Given the description of an element on the screen output the (x, y) to click on. 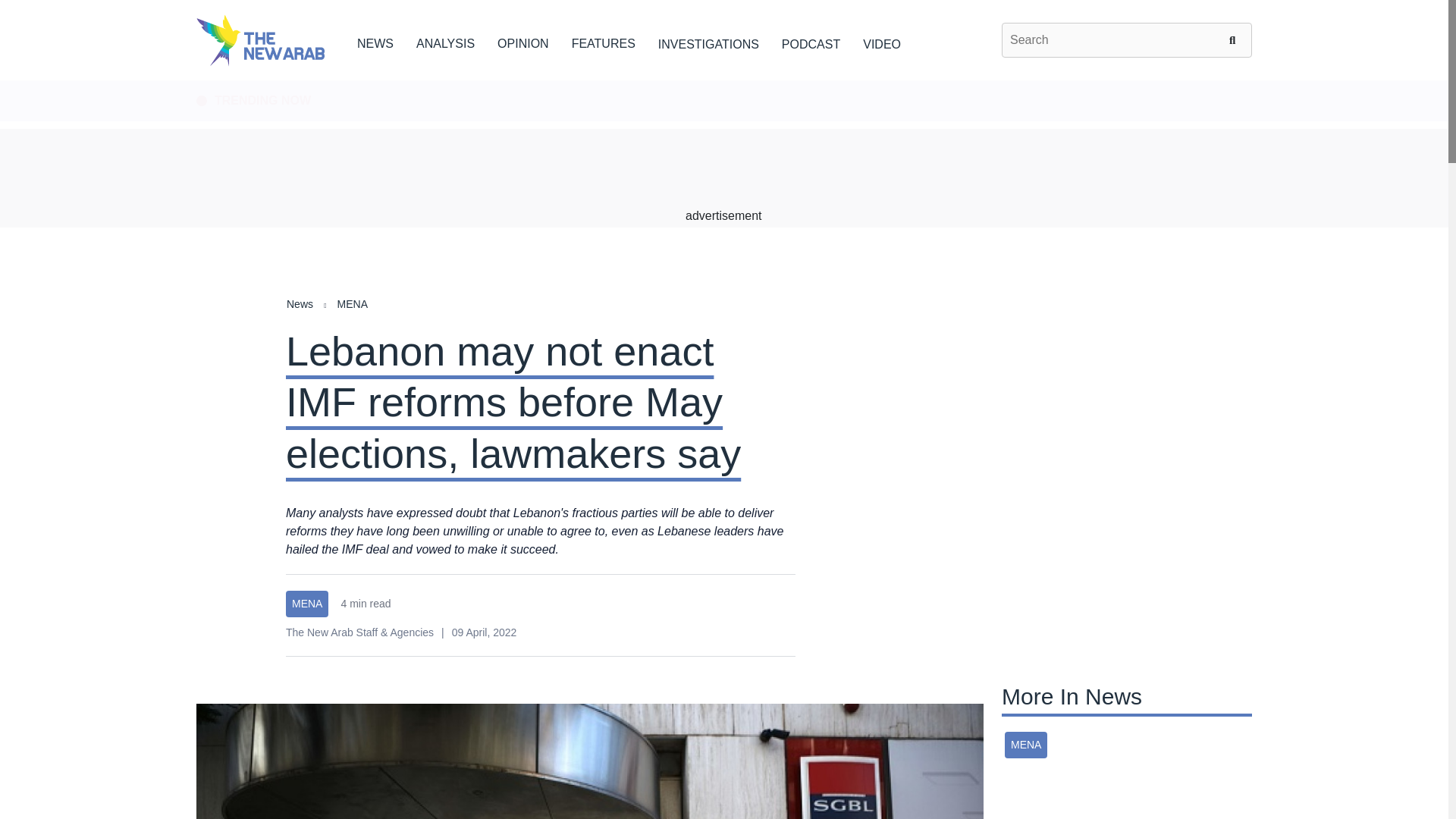
ANALYSIS (445, 41)
Skip to main content (724, 81)
NEWS (375, 41)
Search (1234, 39)
OPINION (523, 41)
